Given the description of an element on the screen output the (x, y) to click on. 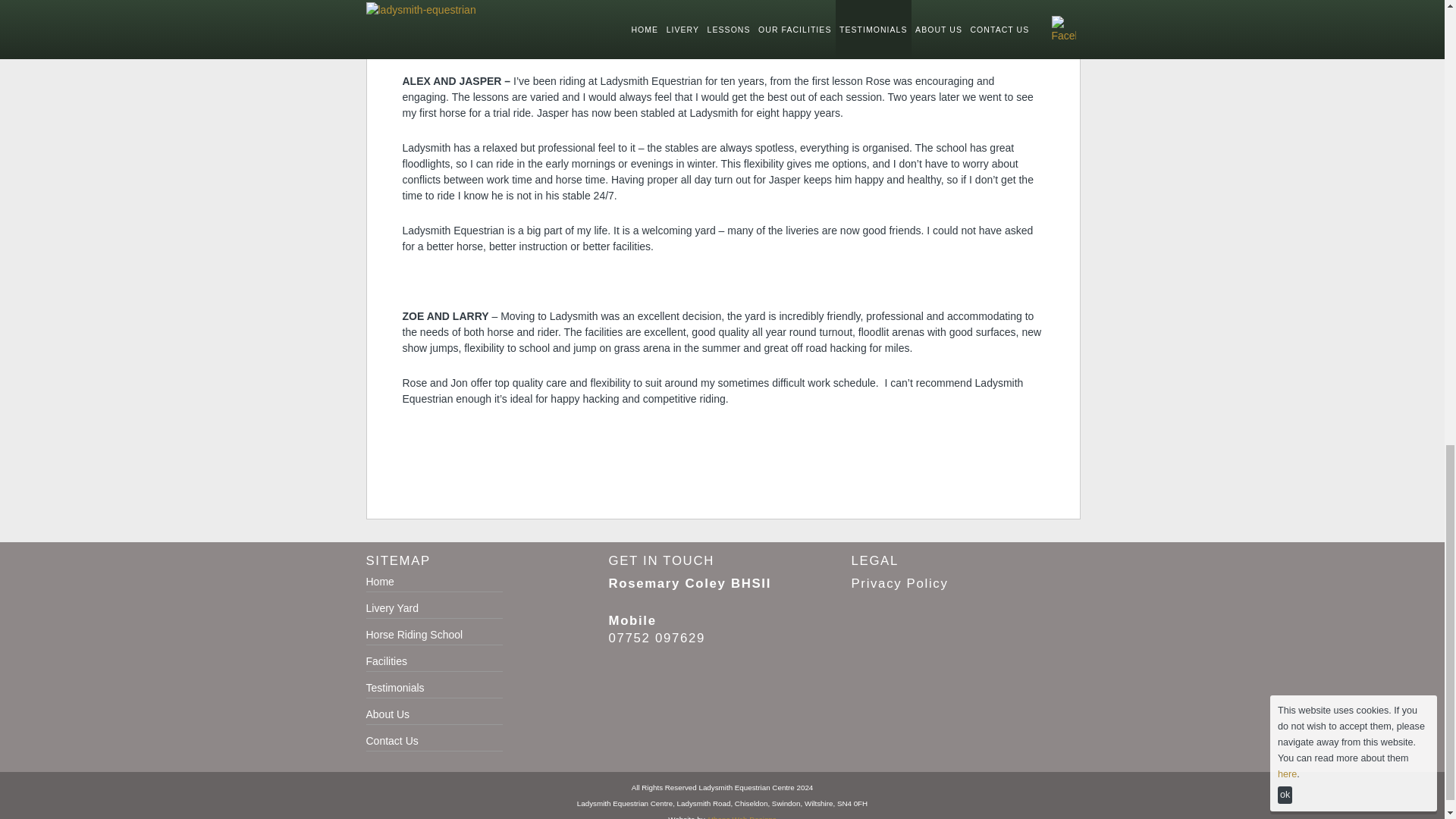
Home (379, 581)
Contact Us (391, 740)
Horse Riding School (414, 634)
07752 097629 (656, 637)
About Us (387, 714)
Facilities (385, 661)
Livery Yard (392, 607)
Testimonials (394, 687)
Privacy Policy (898, 583)
